Given the description of an element on the screen output the (x, y) to click on. 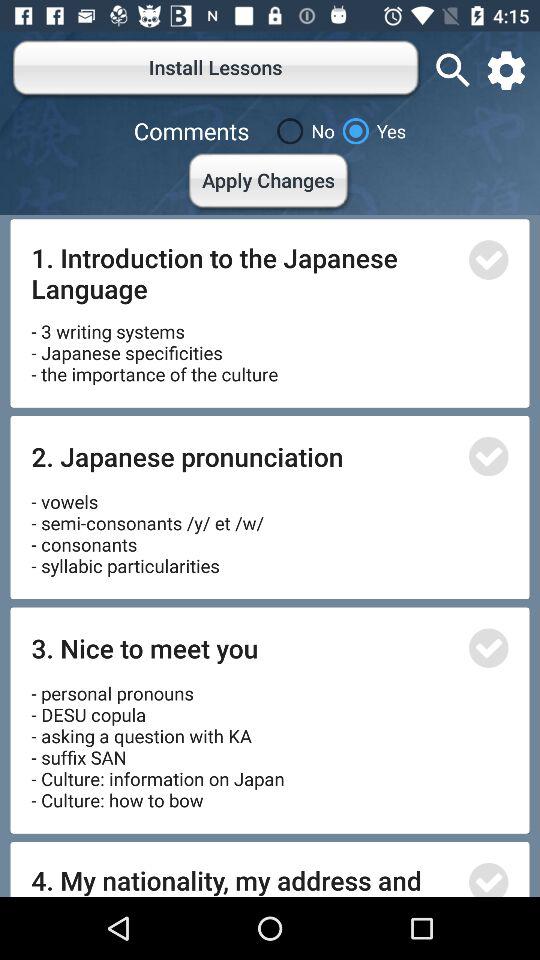
turn off yes item (370, 131)
